Given the description of an element on the screen output the (x, y) to click on. 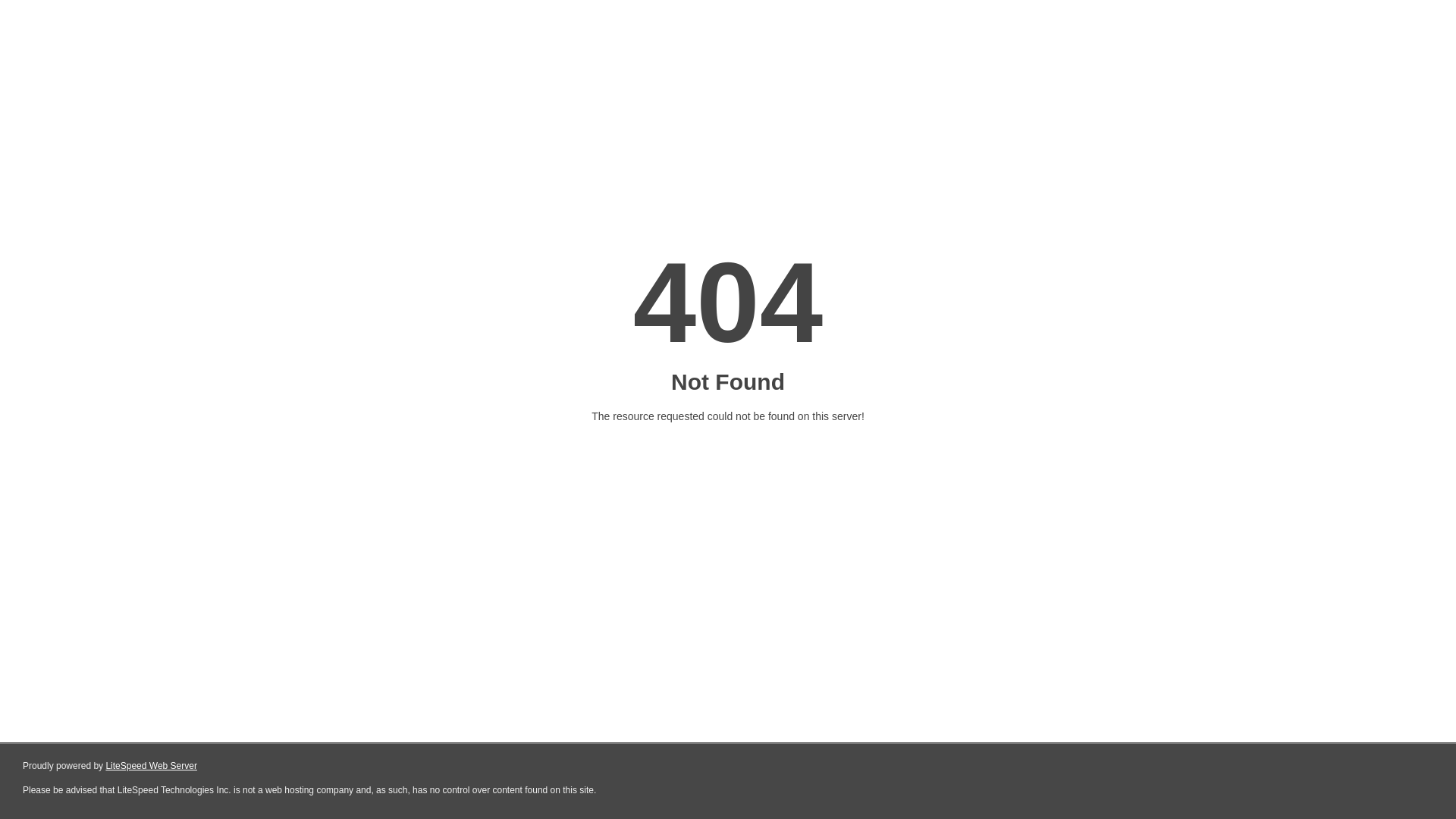
LiteSpeed Web Server Element type: text (151, 765)
